Given the description of an element on the screen output the (x, y) to click on. 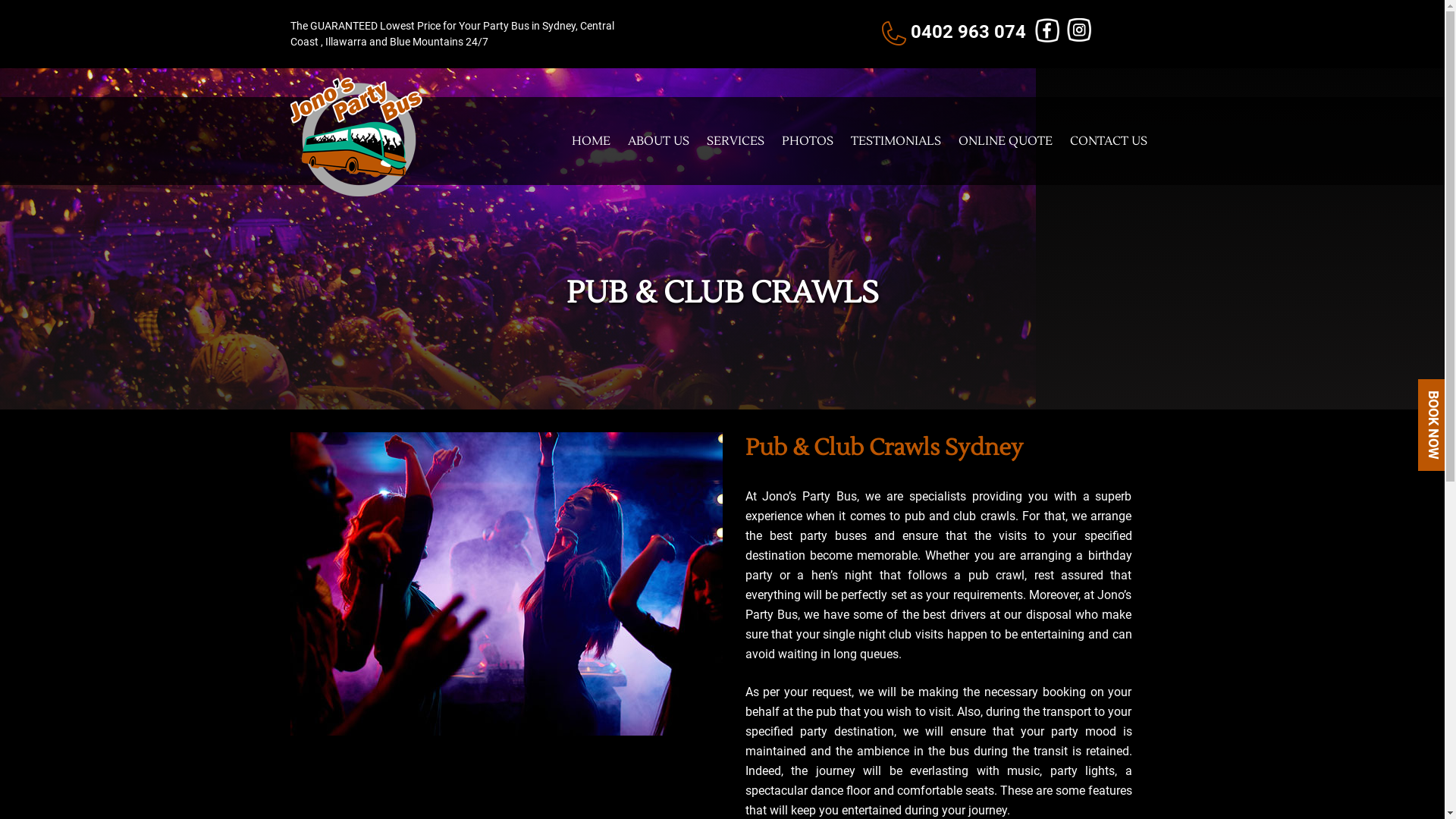
0402 963 074 Element type: text (967, 31)
HOME Element type: text (591, 141)
ONLINE QUOTE Element type: text (1005, 141)
ABOUT US Element type: text (658, 141)
CONTACT US Element type: text (1107, 141)
TESTIMONIALS Element type: text (895, 141)
Instagram Element type: hover (1078, 29)
SERVICES Element type: text (735, 141)
Facebook Element type: hover (1047, 30)
PHOTOS Element type: text (806, 141)
SKIP TO CONTENT Element type: text (569, 96)
